Given the description of an element on the screen output the (x, y) to click on. 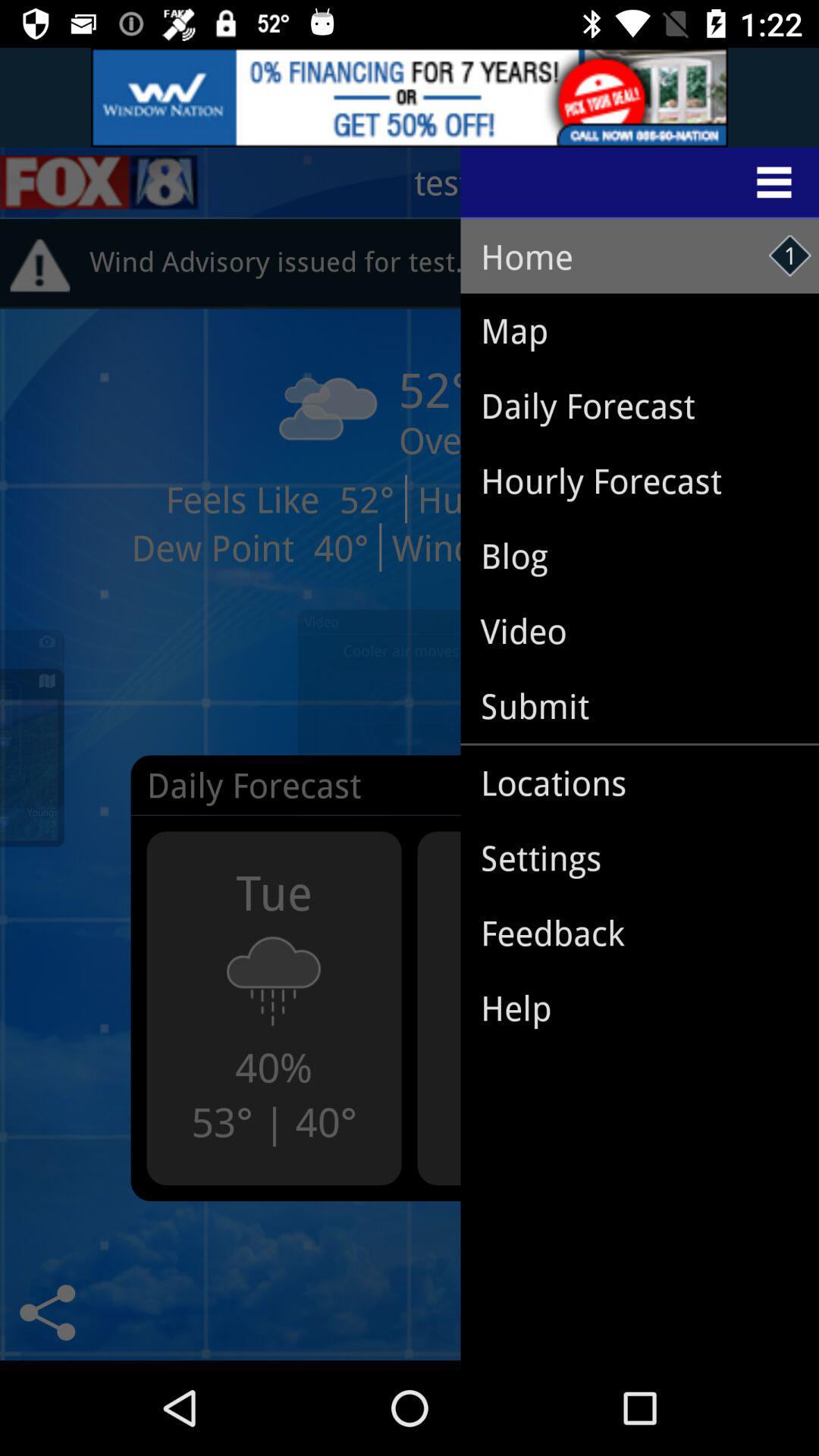
select blog (509, 547)
click the share button on the bottom (47, 1312)
